Given the description of an element on the screen output the (x, y) to click on. 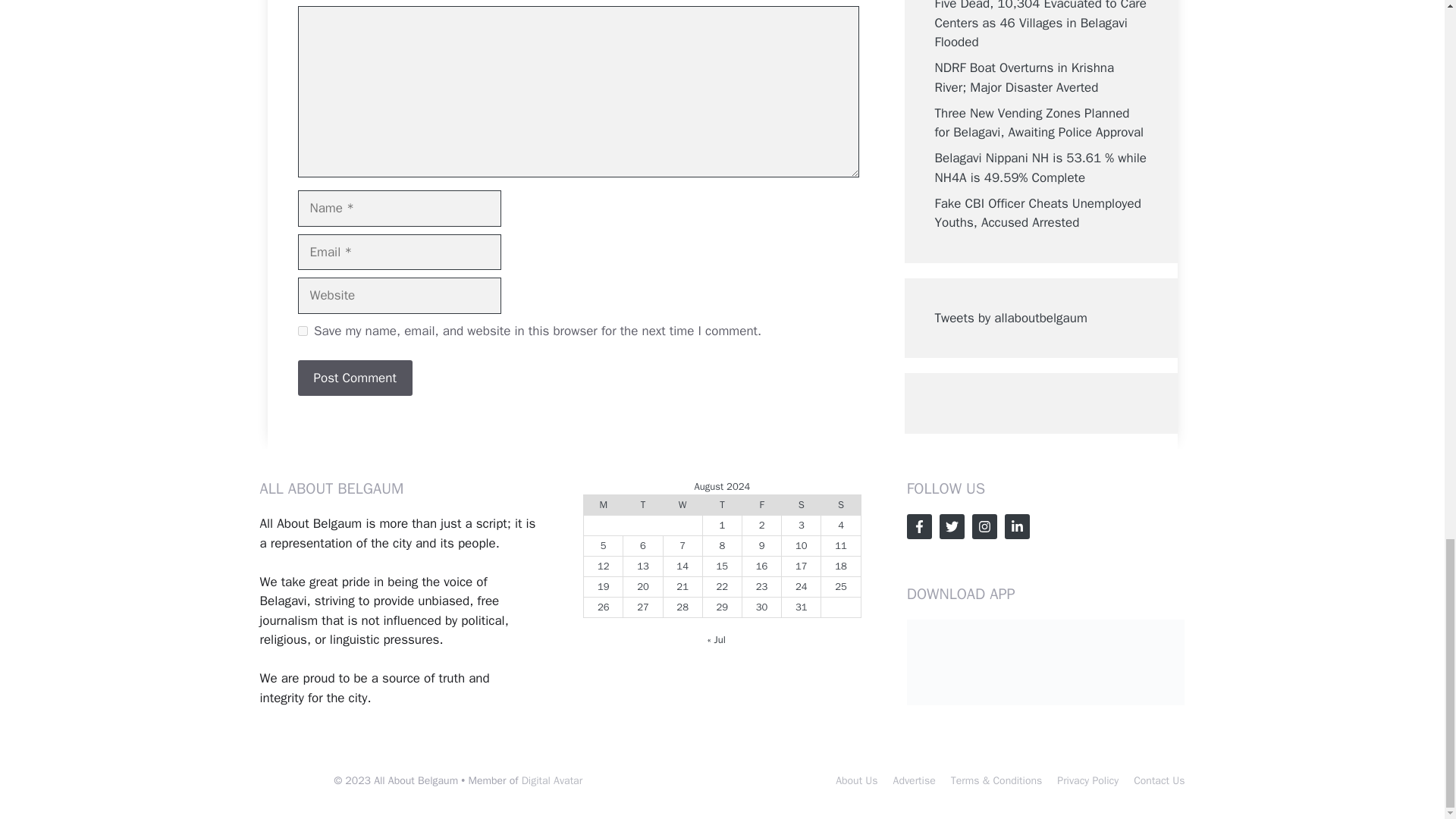
yes (302, 330)
Monday (603, 504)
Sunday (840, 504)
Digital Avatar (552, 780)
Post Comment (354, 378)
Saturday (801, 504)
Post Comment (354, 378)
Tuesday (642, 504)
About Us (856, 780)
Wednesday (681, 504)
Thursday (721, 504)
Friday (760, 504)
